Given the description of an element on the screen output the (x, y) to click on. 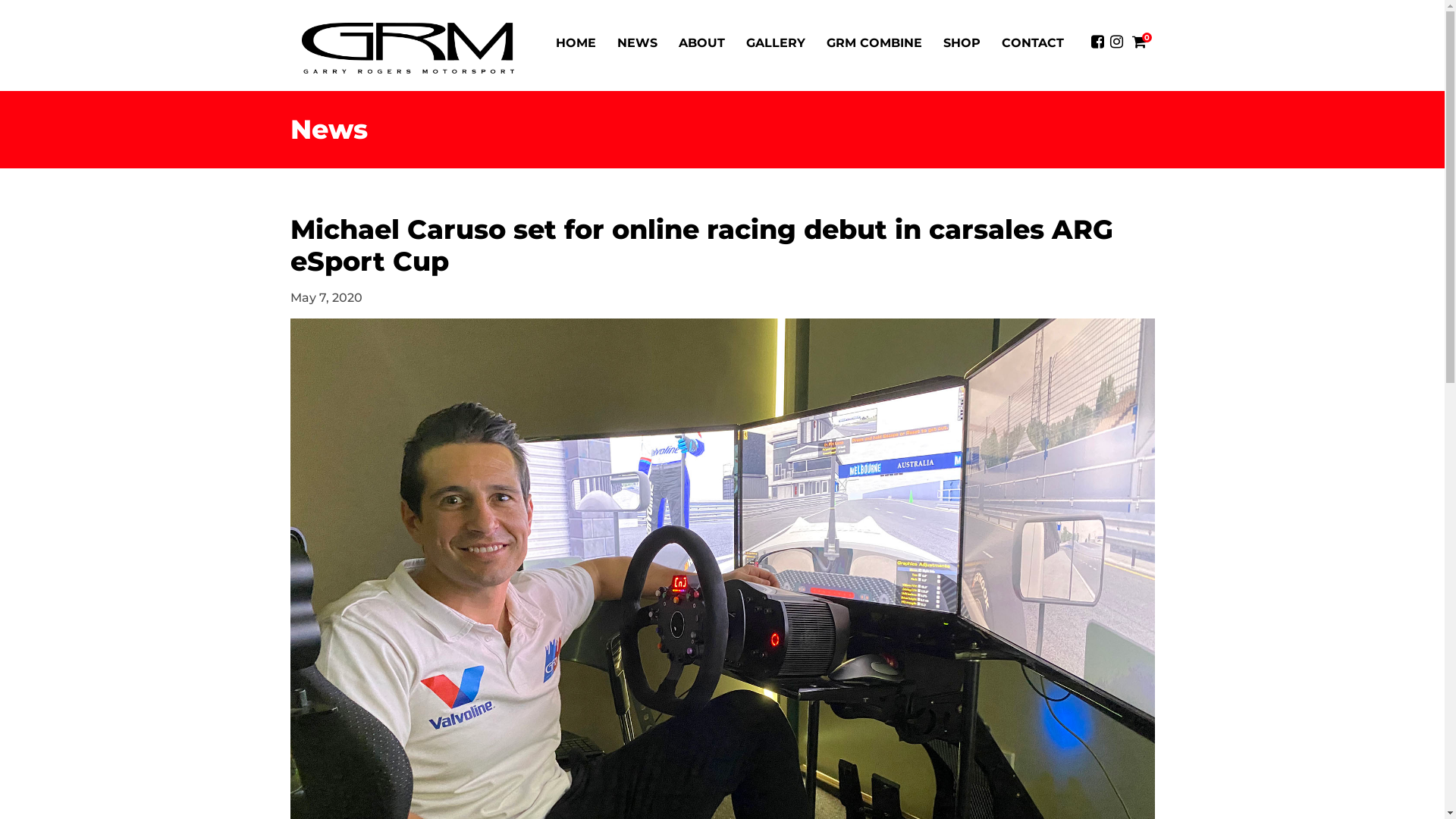
GALLERY Element type: text (775, 43)
CONTACT Element type: text (1031, 43)
GRM COMBINE Element type: text (874, 43)
HOME Element type: text (575, 43)
ABOUT Element type: text (700, 43)
NEWS Element type: text (637, 43)
0 Element type: text (1141, 41)
SHOP Element type: text (961, 43)
